Given the description of an element on the screen output the (x, y) to click on. 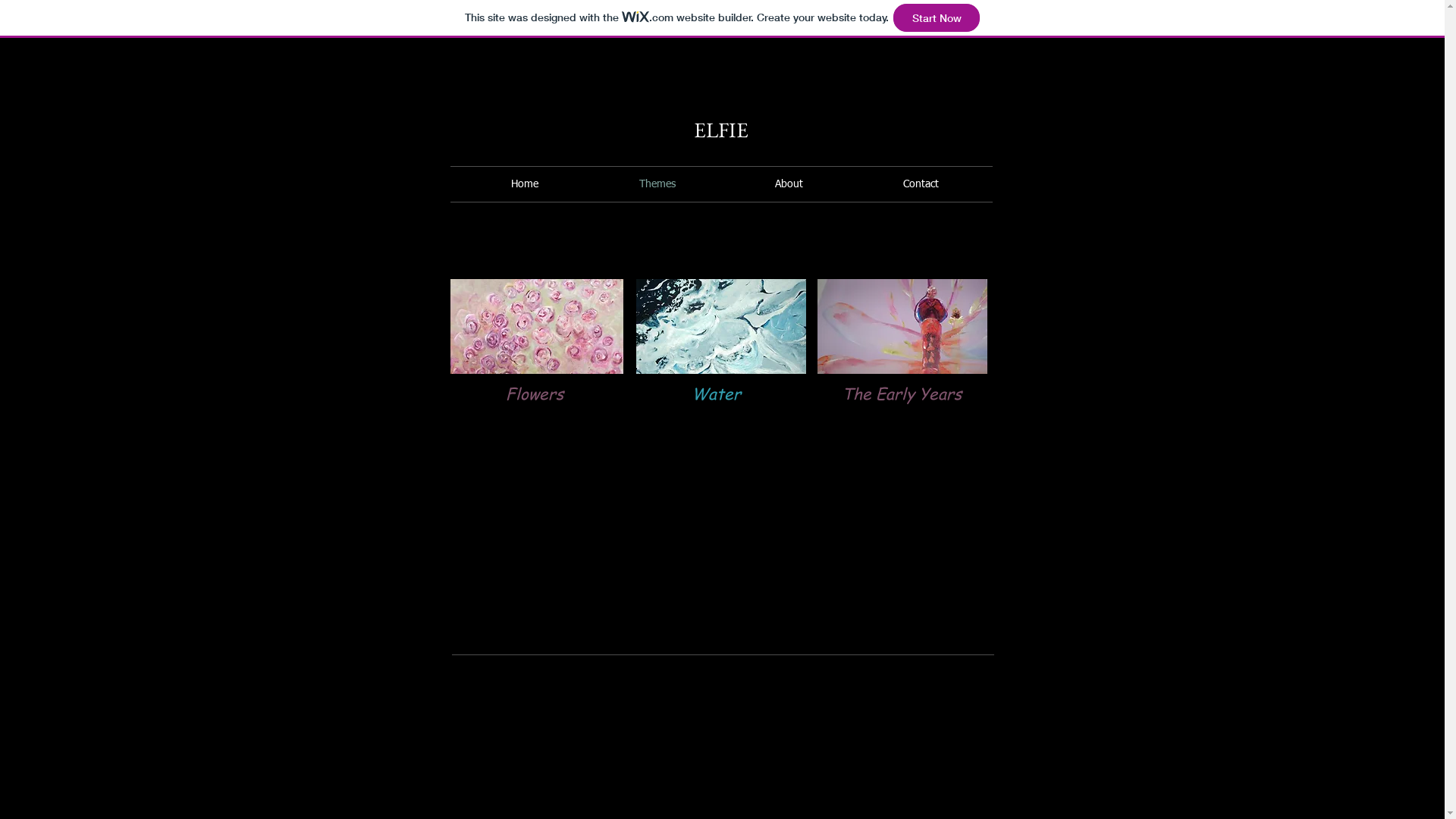
Contact Element type: text (921, 183)
Home Element type: text (524, 183)
About Element type: text (789, 183)
Themes Element type: text (657, 183)
